Given the description of an element on the screen output the (x, y) to click on. 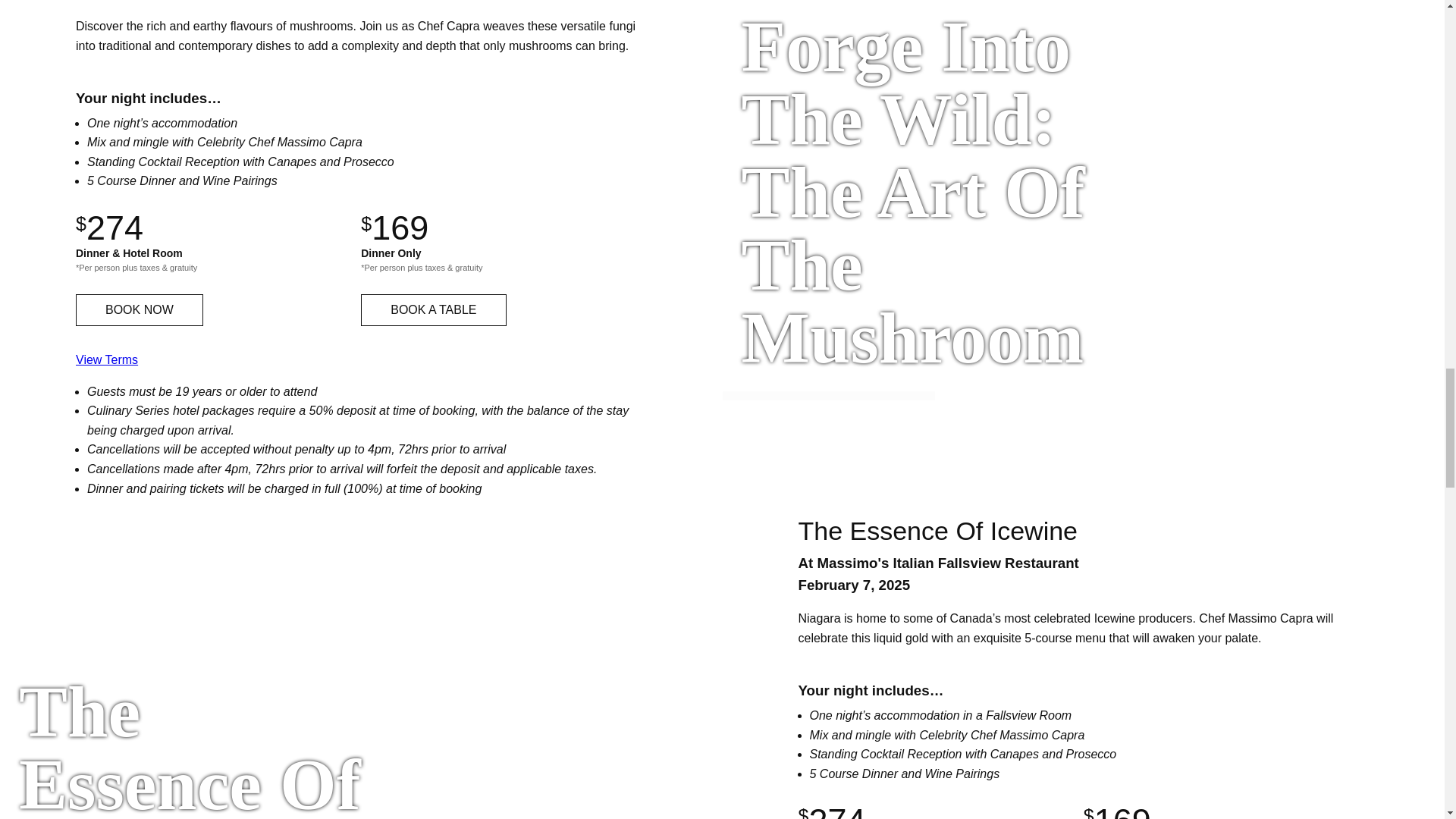
BOOK A TABLE (433, 309)
View Terms (106, 359)
BOOK NOW (139, 309)
